Given the description of an element on the screen output the (x, y) to click on. 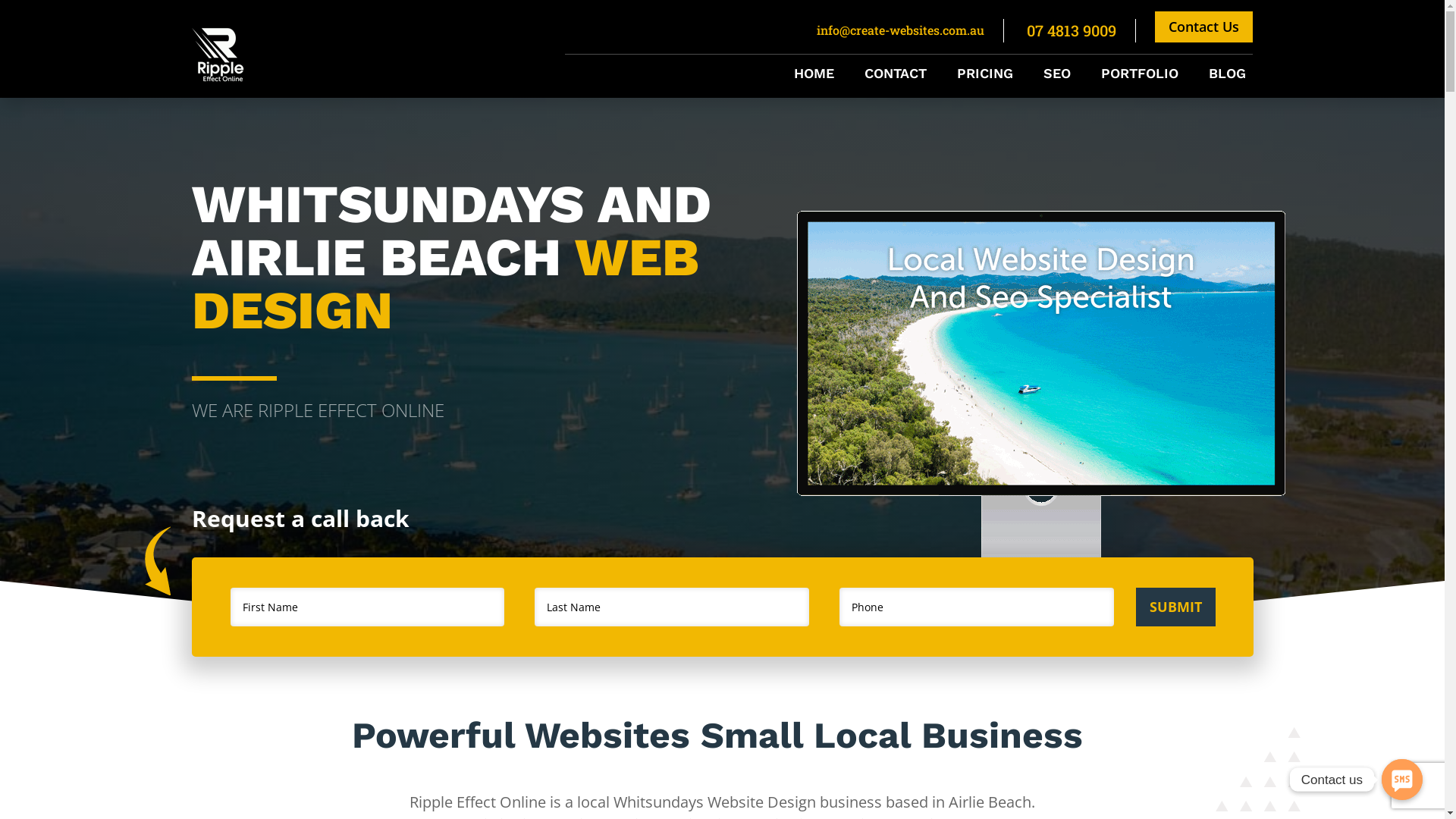
Contact Us Element type: text (1203, 26)
SUBMIT Element type: text (1175, 606)
BLOG Element type: text (1226, 76)
HOME Element type: text (813, 76)
pc-image Element type: hover (1043, 402)
CONTACT Element type: text (895, 76)
ripple-effect-online-logo-small Element type: hover (220, 53)
PRICING Element type: text (985, 76)
SEO Element type: text (1056, 76)
arrow Element type: hover (156, 560)
Contact us Element type: text (1401, 779)
PORTFOLIO Element type: text (1139, 76)
